Given the description of an element on the screen output the (x, y) to click on. 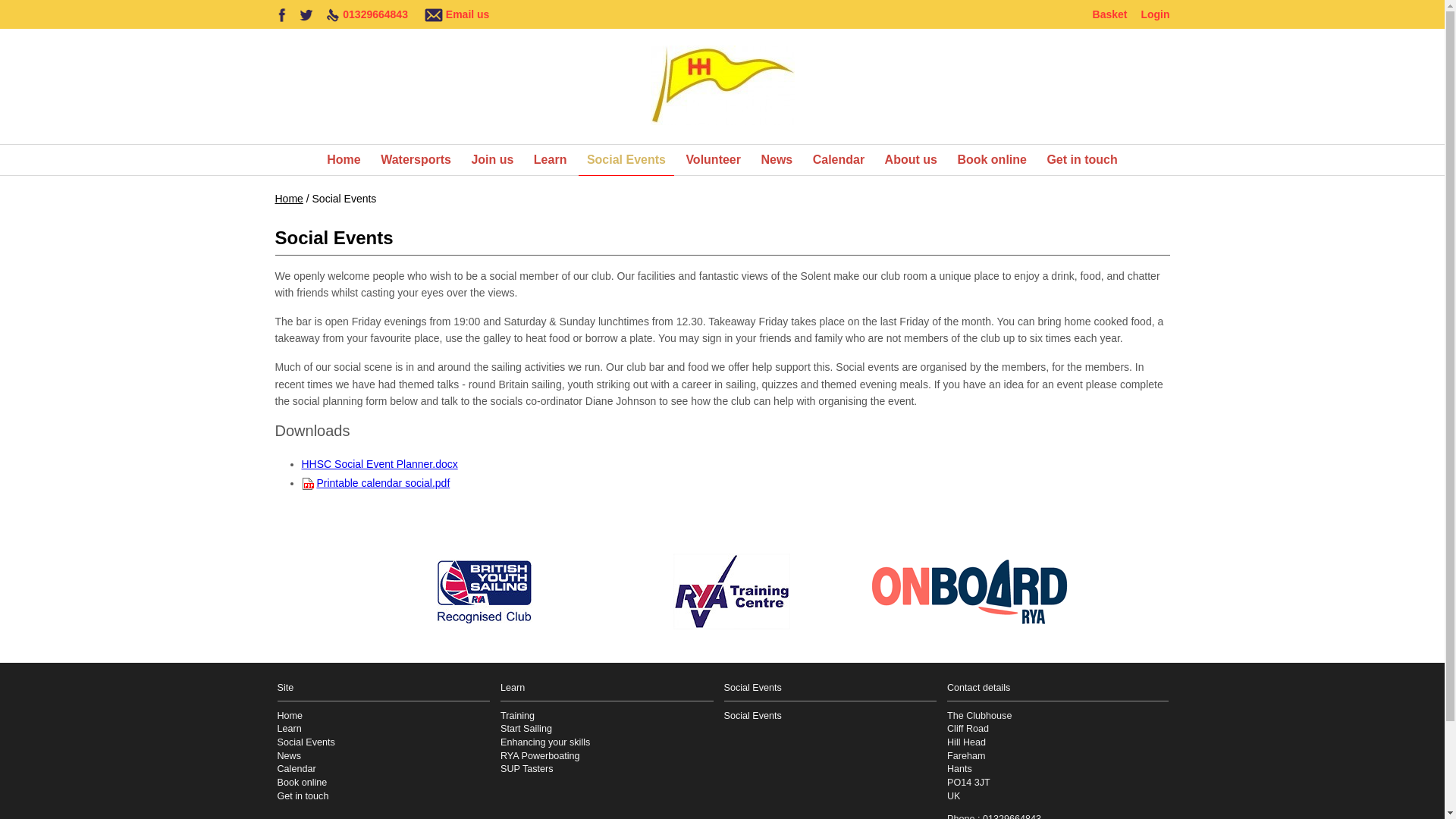
Login (1154, 14)
Email us (467, 14)
Social Events (626, 160)
Home (343, 159)
Volunteer (713, 159)
Watersports (416, 159)
About us (910, 159)
Basket (1109, 14)
Calendar (838, 159)
News (776, 159)
Learn (550, 159)
Join us (492, 159)
